Given the description of an element on the screen output the (x, y) to click on. 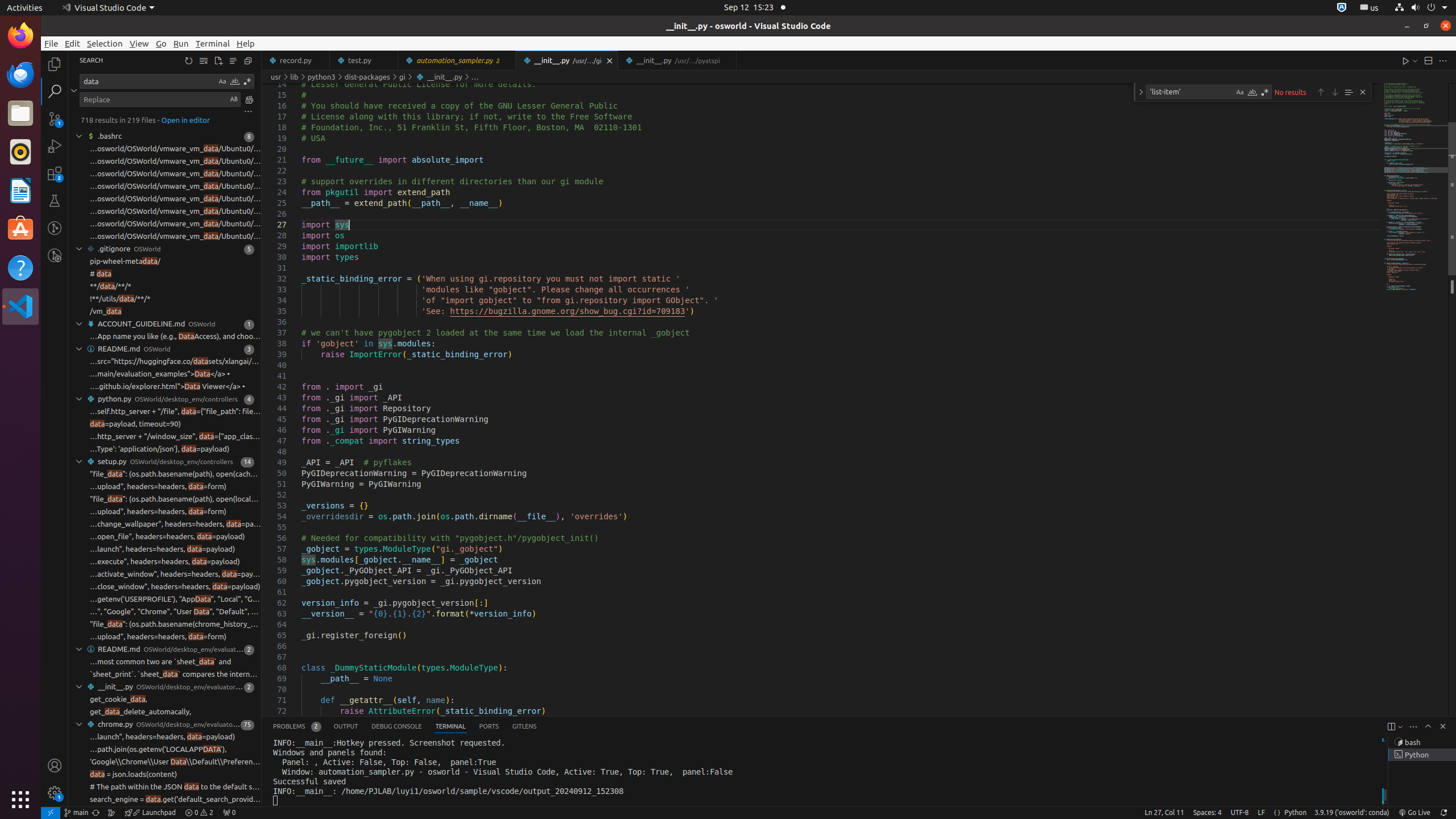
Terminal (Ctrl+`) Element type: page-tab (450, 726)
Accounts Element type: push-button (54, 765)
' response = requests.post(self.http_server + "/setup" + "/close_window", headers=headers, data=payload)' at column 102 found data Element type: tree-item (164, 586)
Close (Ctrl+W) Element type: push-button (727, 60)
' response = requests.post(self.http_server + "/setup" + "/upload", headers=headers, data=form)' at column 100 found data Element type: tree-item (164, 511)
